Given the description of an element on the screen output the (x, y) to click on. 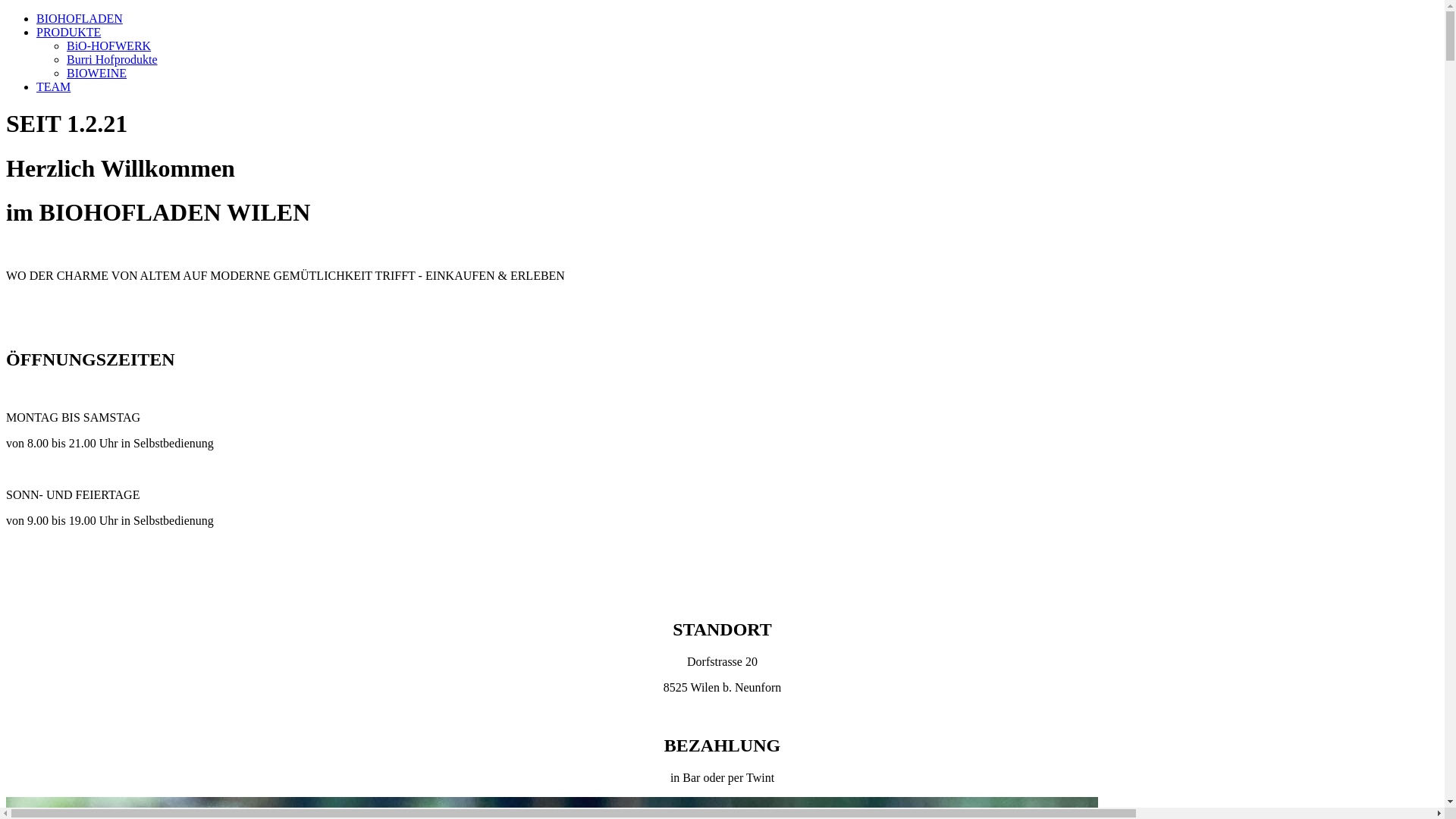
BiO-HOFWERK Element type: text (108, 45)
PRODUKTE Element type: text (68, 31)
Burri Hofprodukte Element type: text (111, 59)
BIOHOFLADEN Element type: text (79, 18)
TEAM Element type: text (53, 86)
BIOWEINE Element type: text (96, 72)
